Given the description of an element on the screen output the (x, y) to click on. 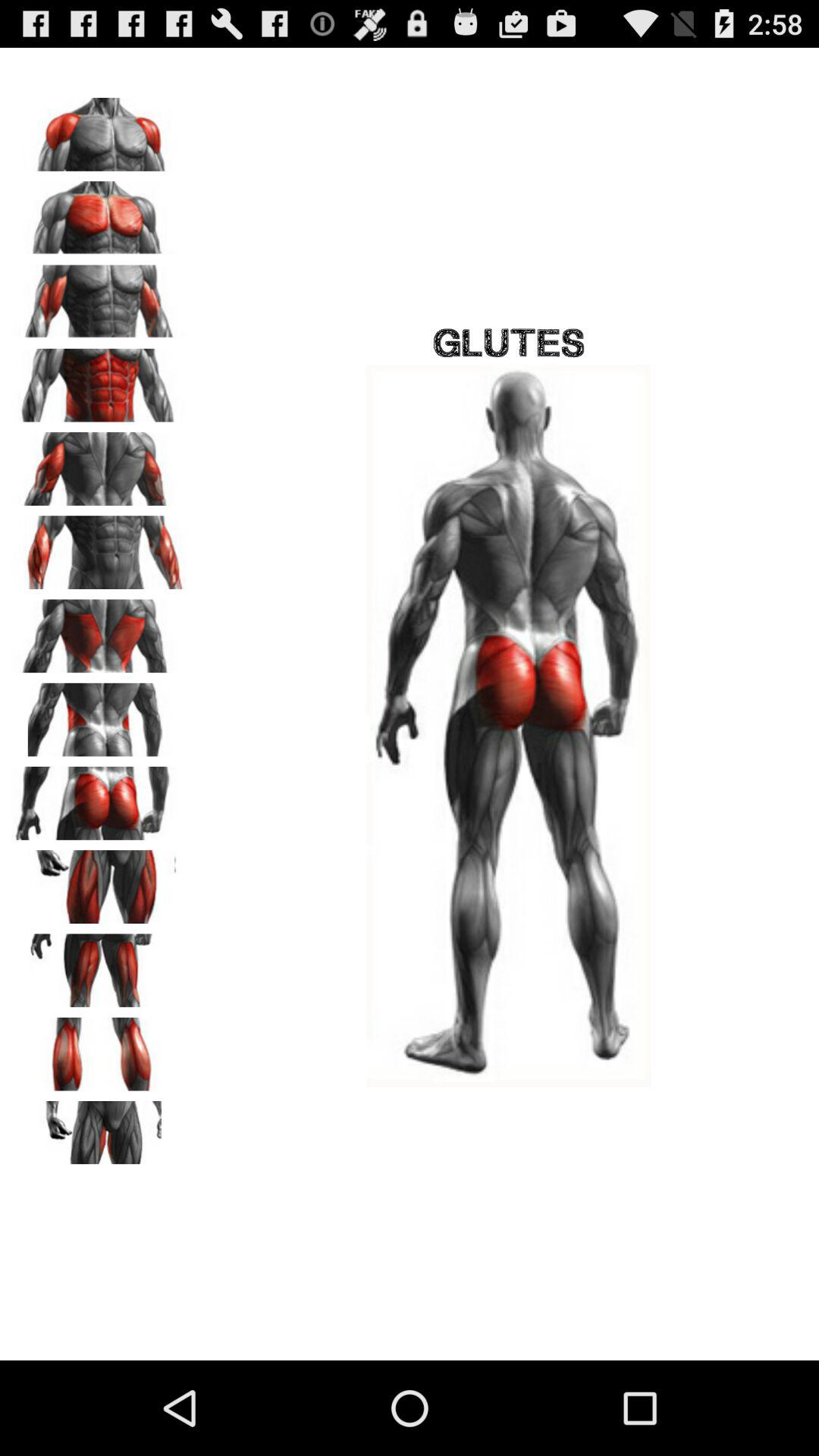
choose the picture to show (99, 296)
